Given the description of an element on the screen output the (x, y) to click on. 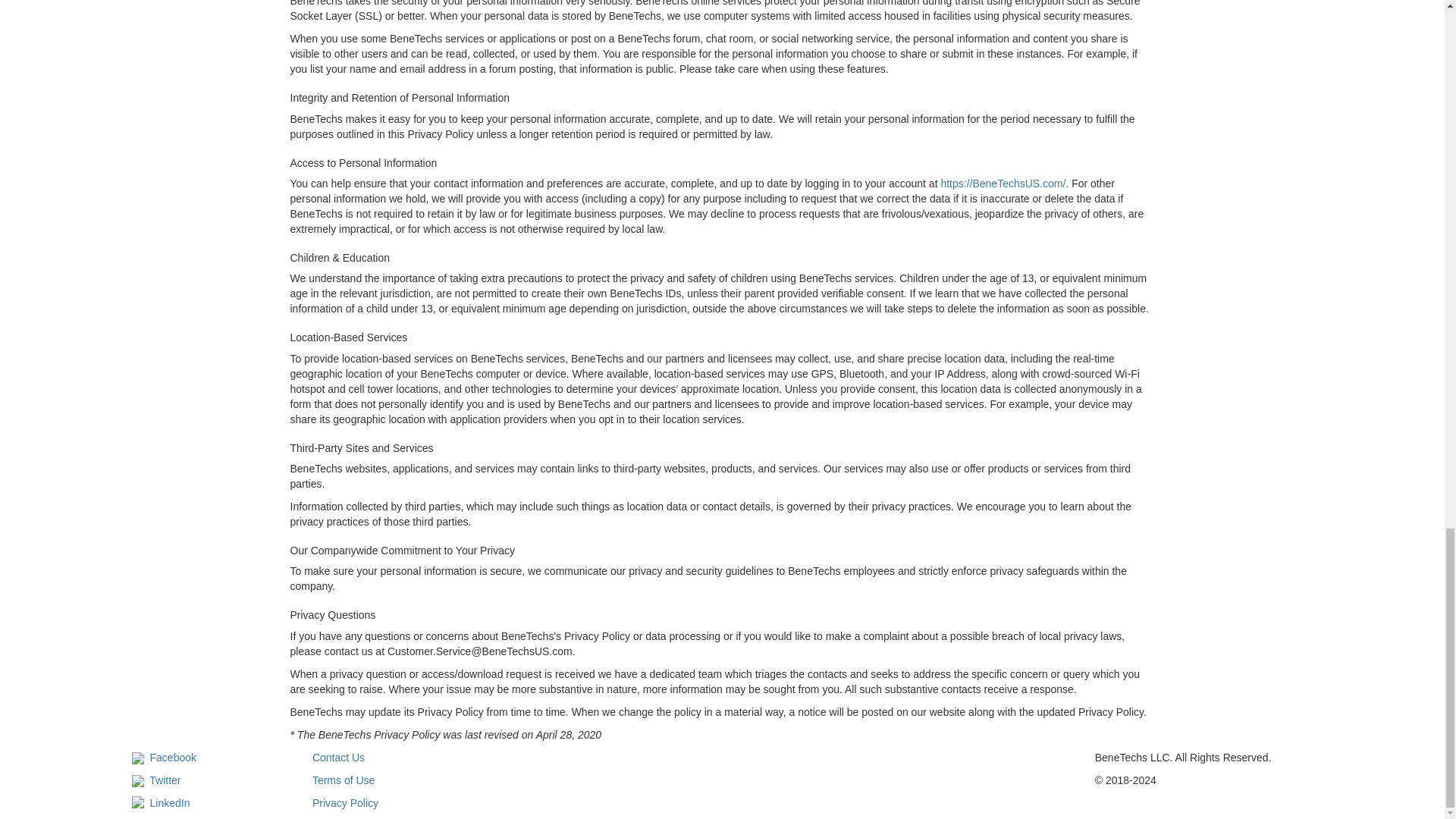
Contact Us (339, 757)
  Facebook (164, 757)
Privacy Policy (345, 802)
  LinkedIn (161, 802)
  Twitter (156, 779)
Terms of Use (343, 779)
